Given the description of an element on the screen output the (x, y) to click on. 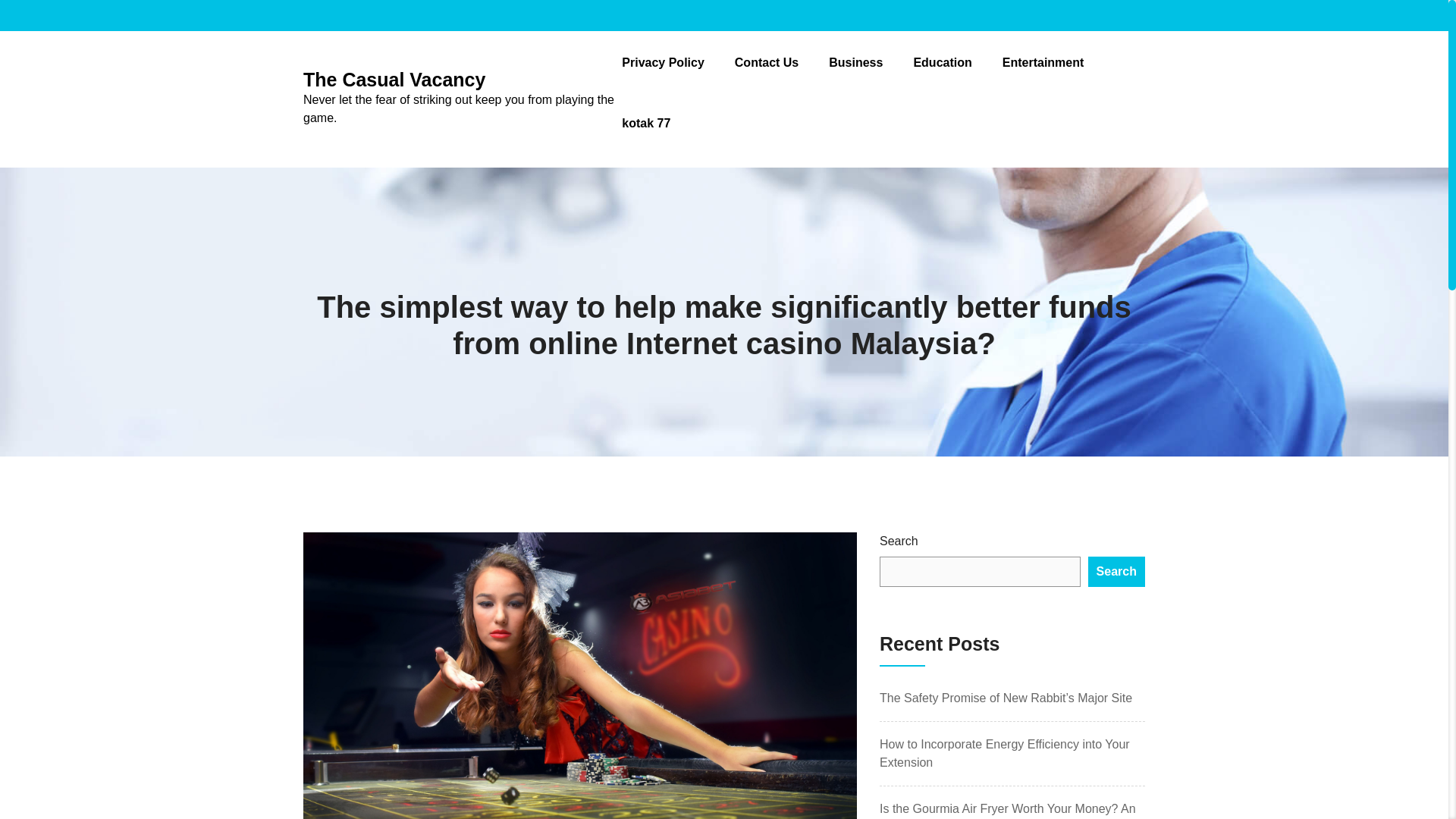
kotak 77 (645, 123)
Search (1115, 571)
Privacy Policy (662, 62)
How to Incorporate Energy Efficiency into Your Extension (1004, 753)
Entertainment (1043, 62)
Business (855, 62)
Contact Us (766, 62)
Education (941, 62)
